Given the description of an element on the screen output the (x, y) to click on. 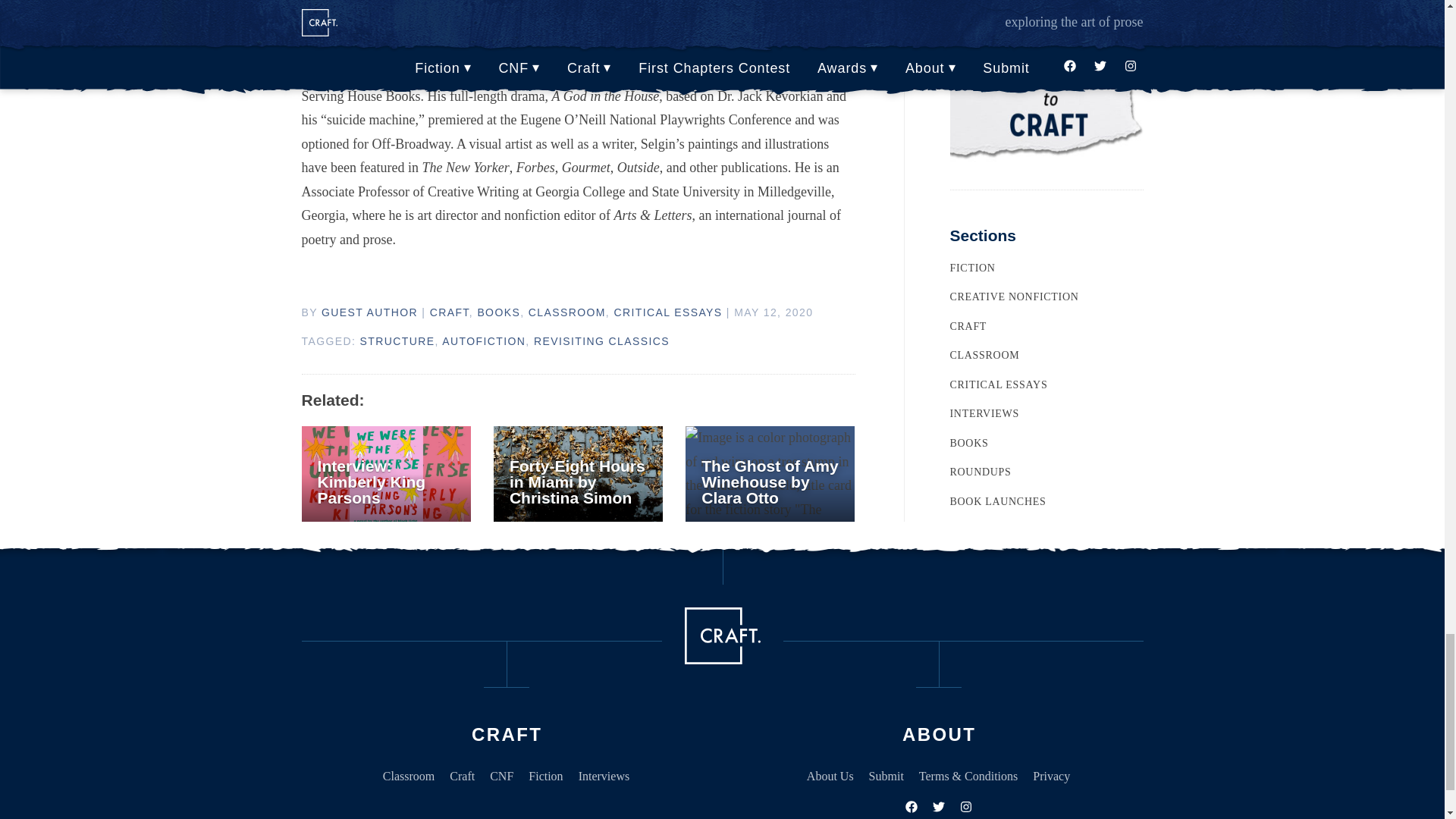
Posts by Guest Author (369, 312)
